Given the description of an element on the screen output the (x, y) to click on. 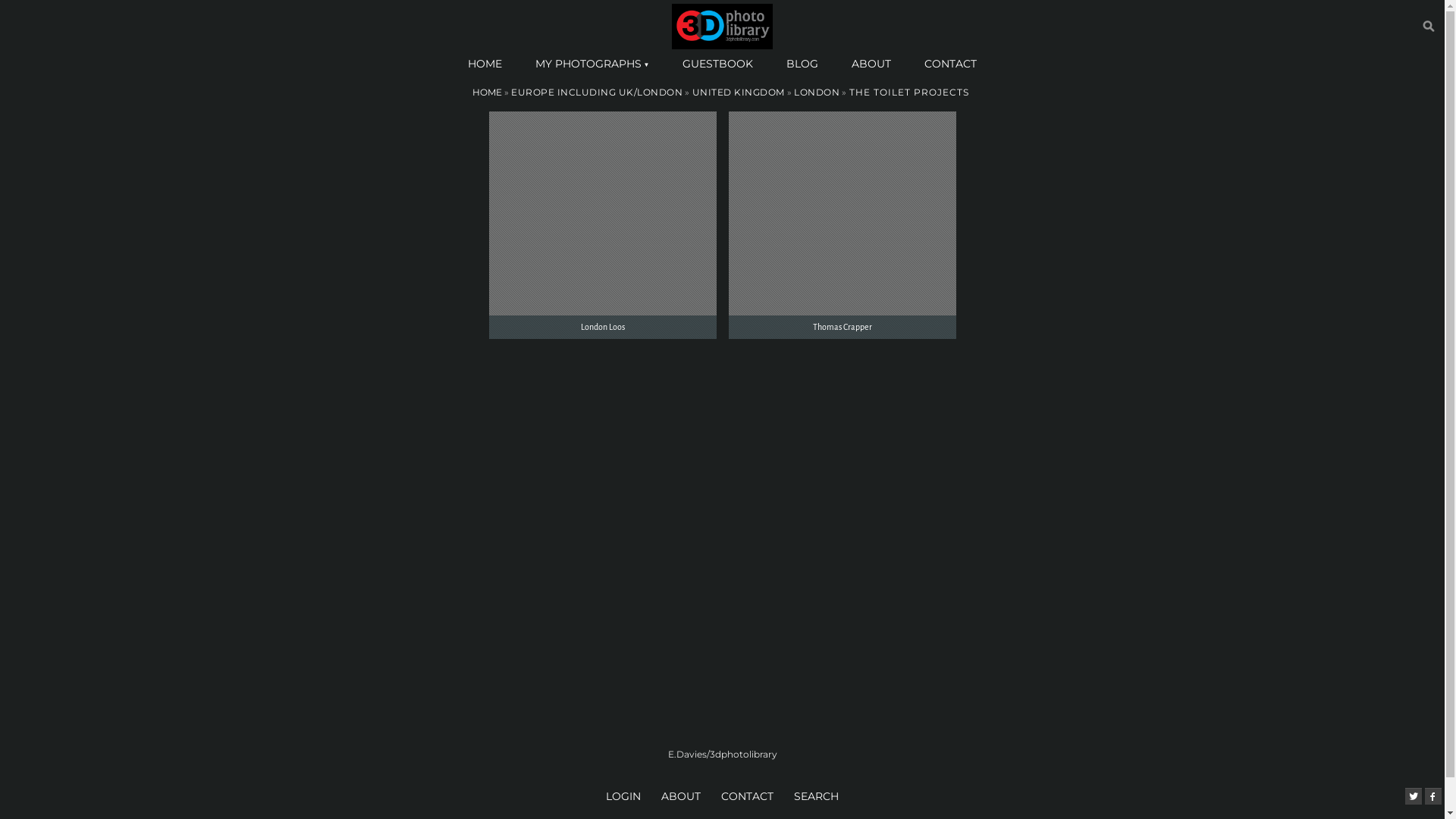
LOGIN Element type: text (624, 795)
LONDON Element type: text (816, 91)
EUROPE INCLUDING UK/LONDON Element type: text (596, 91)
Thomas Crapper Element type: text (841, 224)
CONTACT Element type: text (950, 63)
HOME Element type: text (486, 91)
SEARCH Element type: text (815, 795)
ABOUT Element type: text (682, 795)
BLOG Element type: text (802, 63)
CONTACT Element type: text (748, 795)
London Loos Element type: text (601, 224)
3dphotolibrary Element type: hover (722, 26)
ABOUT Element type: text (871, 63)
HOME Element type: text (484, 63)
UNITED KINGDOM Element type: text (737, 91)
GUESTBOOK Element type: text (717, 63)
